Given the description of an element on the screen output the (x, y) to click on. 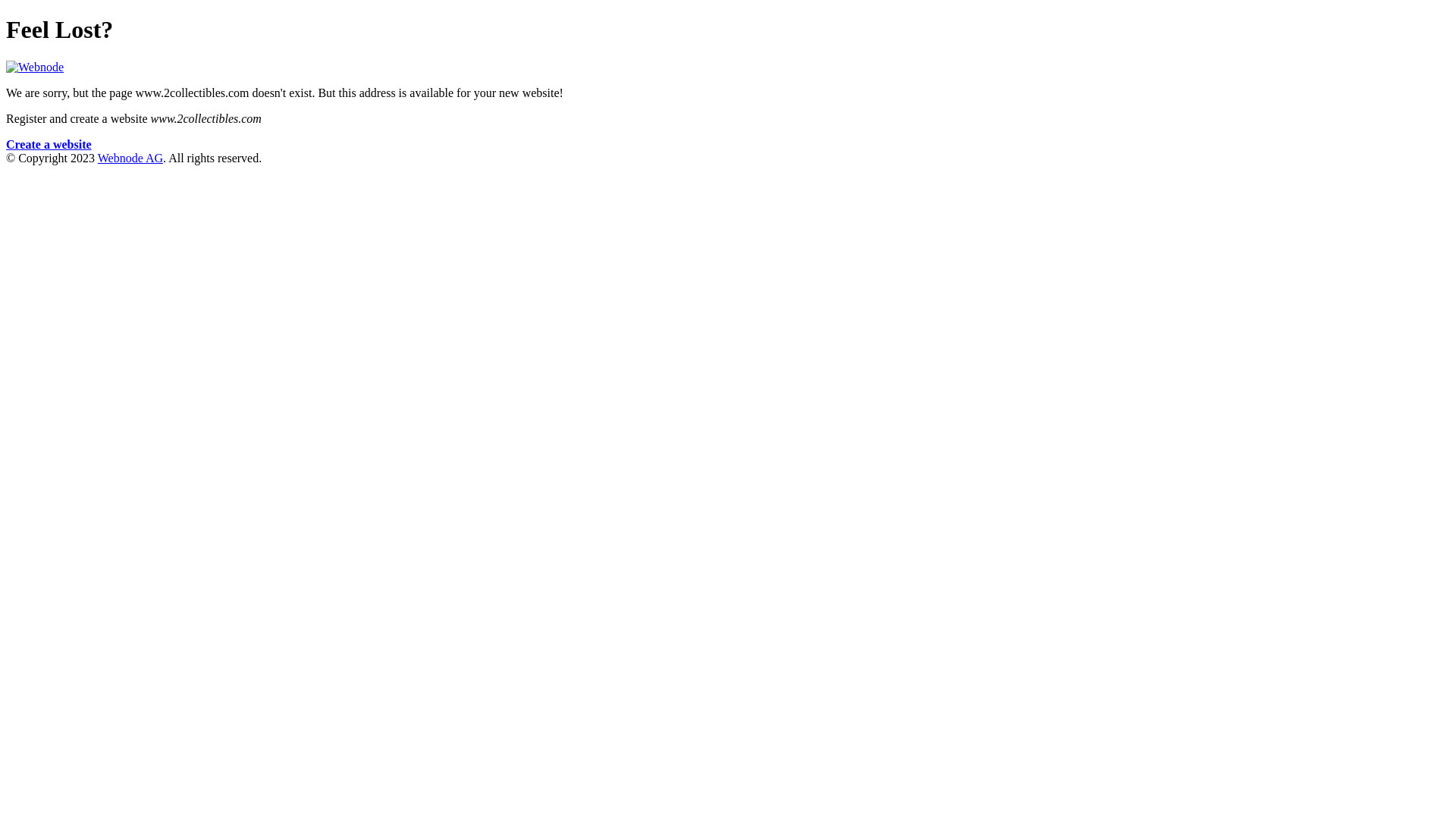
Webnode AG Element type: text (130, 157)
Create a website Element type: text (48, 144)
